Given the description of an element on the screen output the (x, y) to click on. 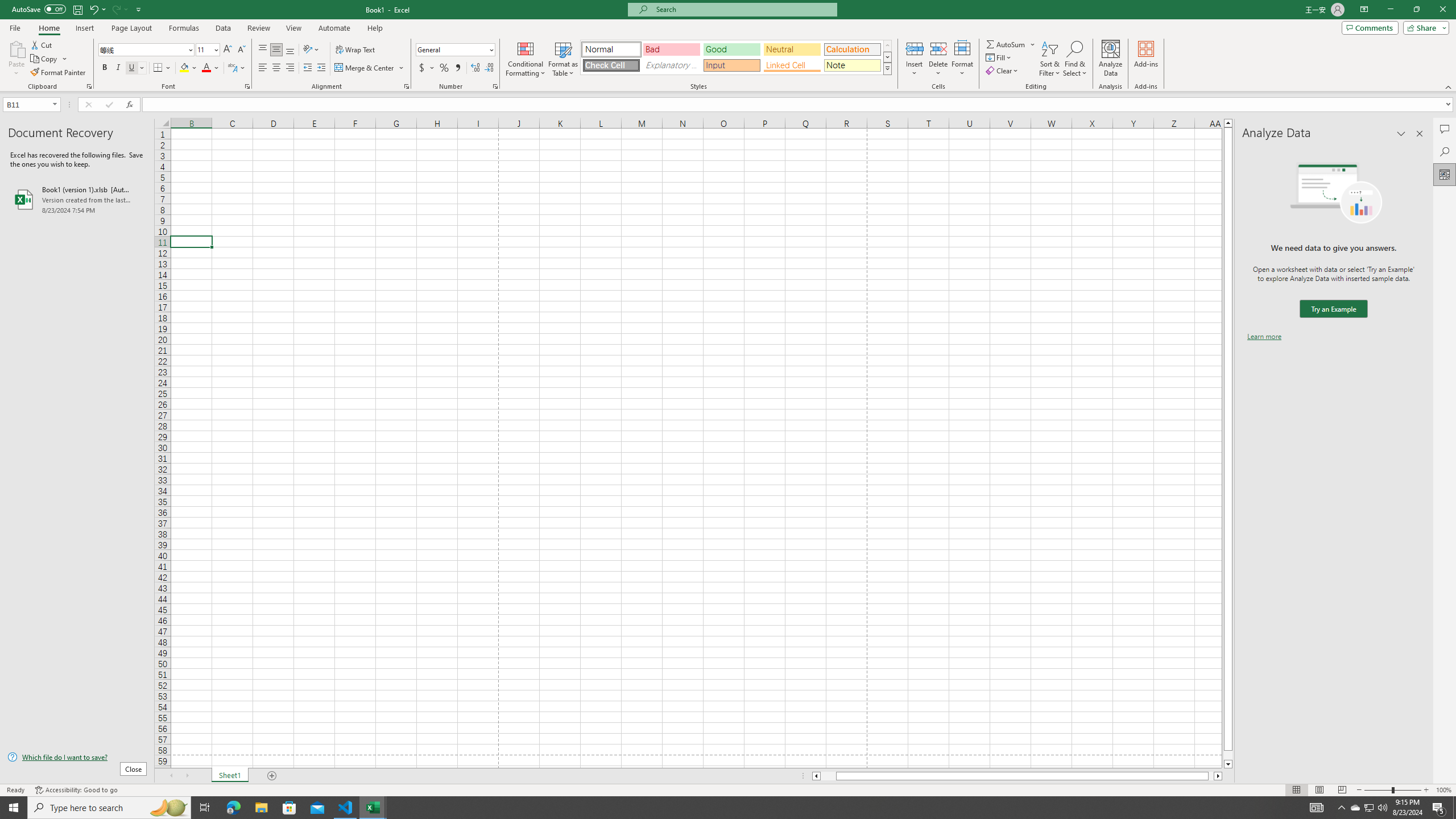
Show Phonetic Field (236, 67)
Middle Align (276, 49)
Bold (104, 67)
Bad (671, 49)
Format Cell Font (247, 85)
Accounting Number Format (422, 67)
Orientation (311, 49)
Accounting Number Format (426, 67)
